Given the description of an element on the screen output the (x, y) to click on. 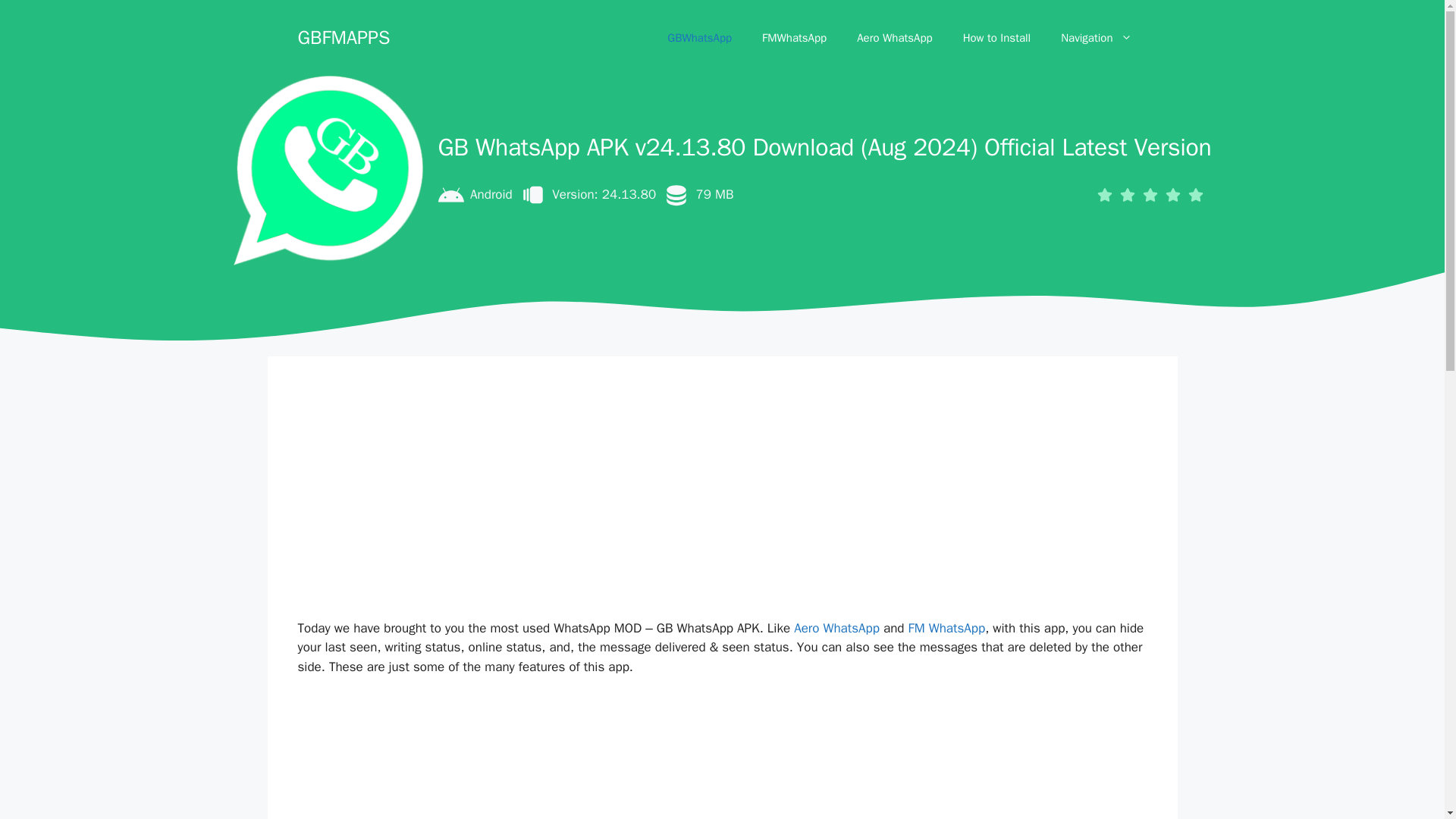
FMWhatsApp (793, 37)
Aero WhatsApp (836, 627)
FM WhatsApp (946, 627)
Advertisement (736, 757)
GBFMAPPS (343, 37)
GBWhatsApp (699, 37)
How to Install (996, 37)
Aero WhatsApp (894, 37)
Navigation (1096, 37)
